Given the description of an element on the screen output the (x, y) to click on. 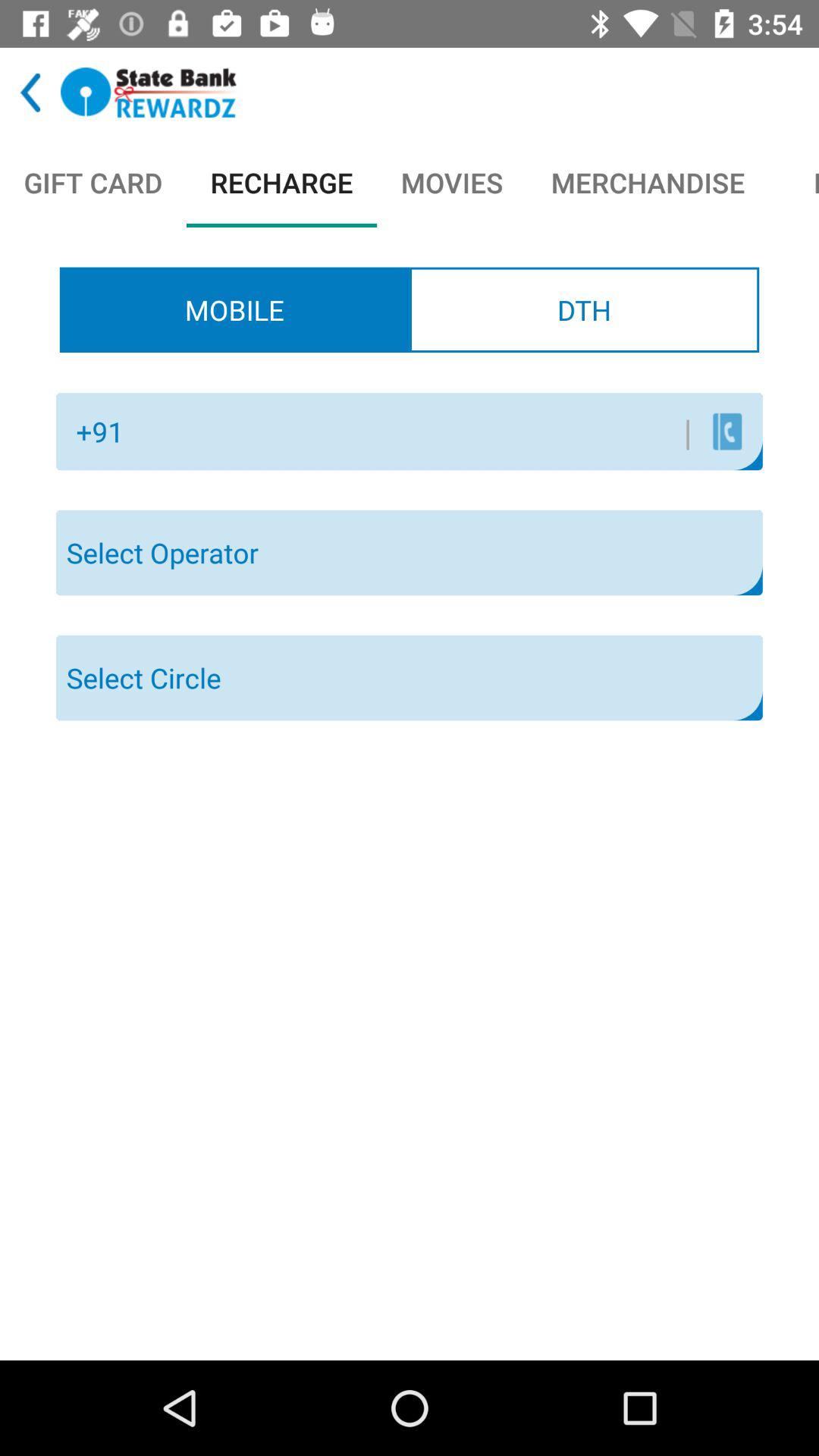
enter your phone number (413, 431)
